Given the description of an element on the screen output the (x, y) to click on. 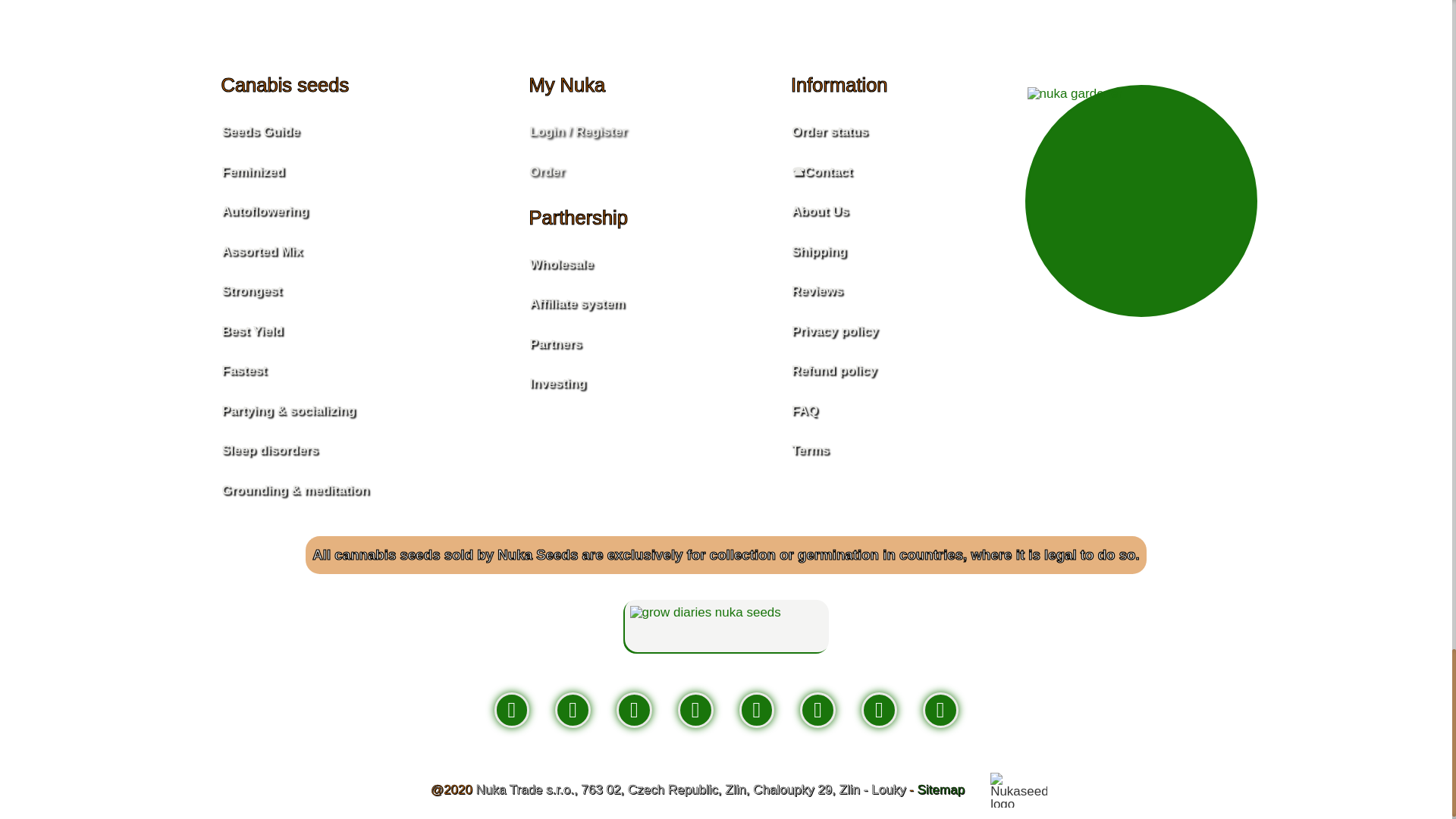
Feminized (293, 171)
Best Yield (293, 331)
Fastest (293, 371)
Assorted Mix (293, 250)
Autoflowering (293, 211)
Strongest (293, 291)
Seeds Guide (293, 132)
